Given the description of an element on the screen output the (x, y) to click on. 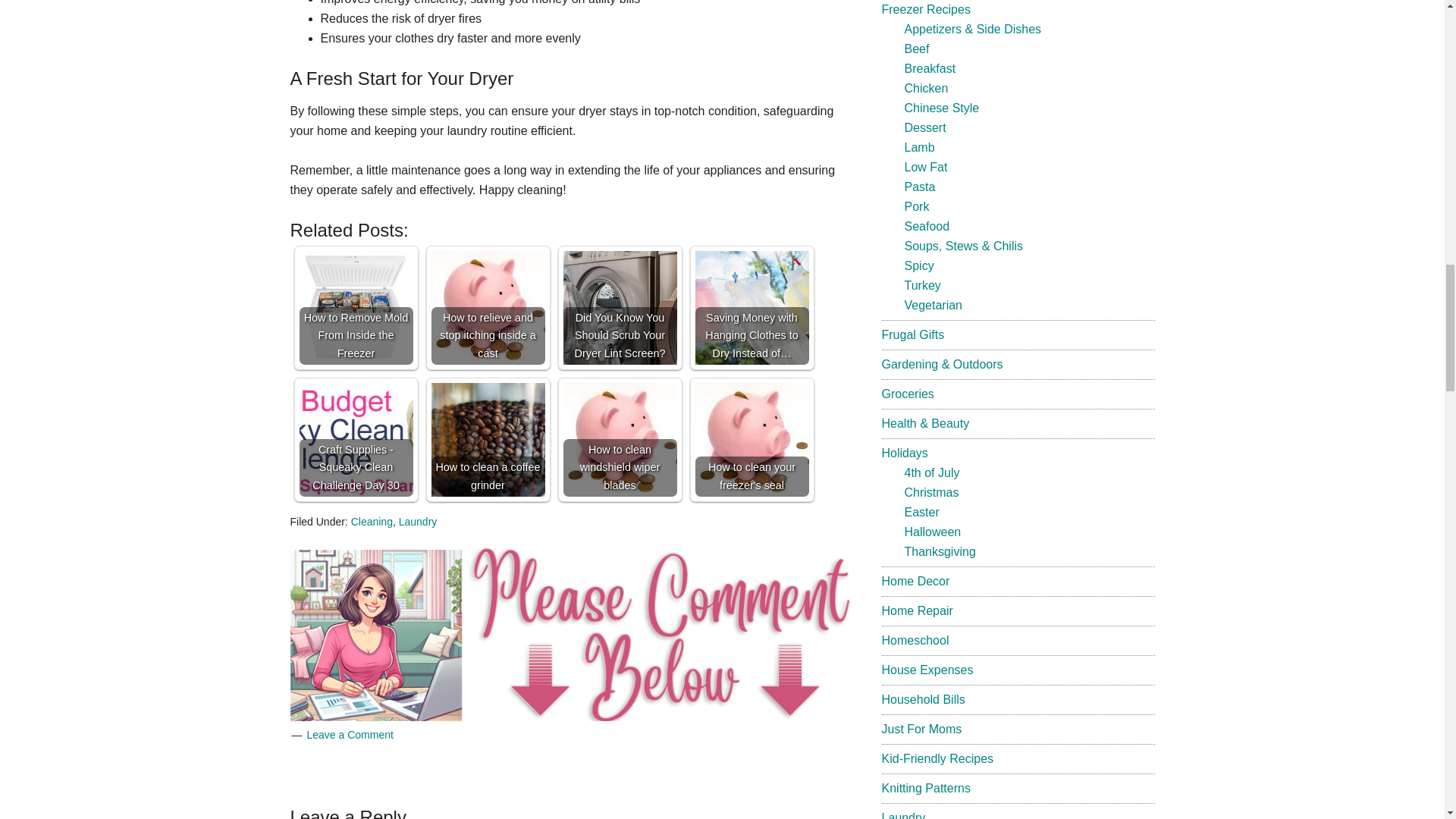
Laundry (418, 521)
How to clean a coffee grinder (487, 439)
How to clean windshield wiper blades (619, 439)
Did You Know You Should Scrub Your Dryer Lint Screen? (619, 307)
Craft Supplies - Squeaky Clean Challenge Day 30 (355, 439)
How to clean a coffee grinder (487, 439)
Cleaning (371, 521)
How to clean your freezer's seal (751, 439)
Leave a Comment (349, 734)
How to Remove Mold From Inside the Freezer (355, 307)
How to Remove Mold From Inside the Freezer (355, 307)
How to clean your freezer's seal (751, 439)
Craft Supplies - Squeaky Clean Challenge Day 30 (355, 439)
How to clean windshield wiper blades (619, 439)
